Given the description of an element on the screen output the (x, y) to click on. 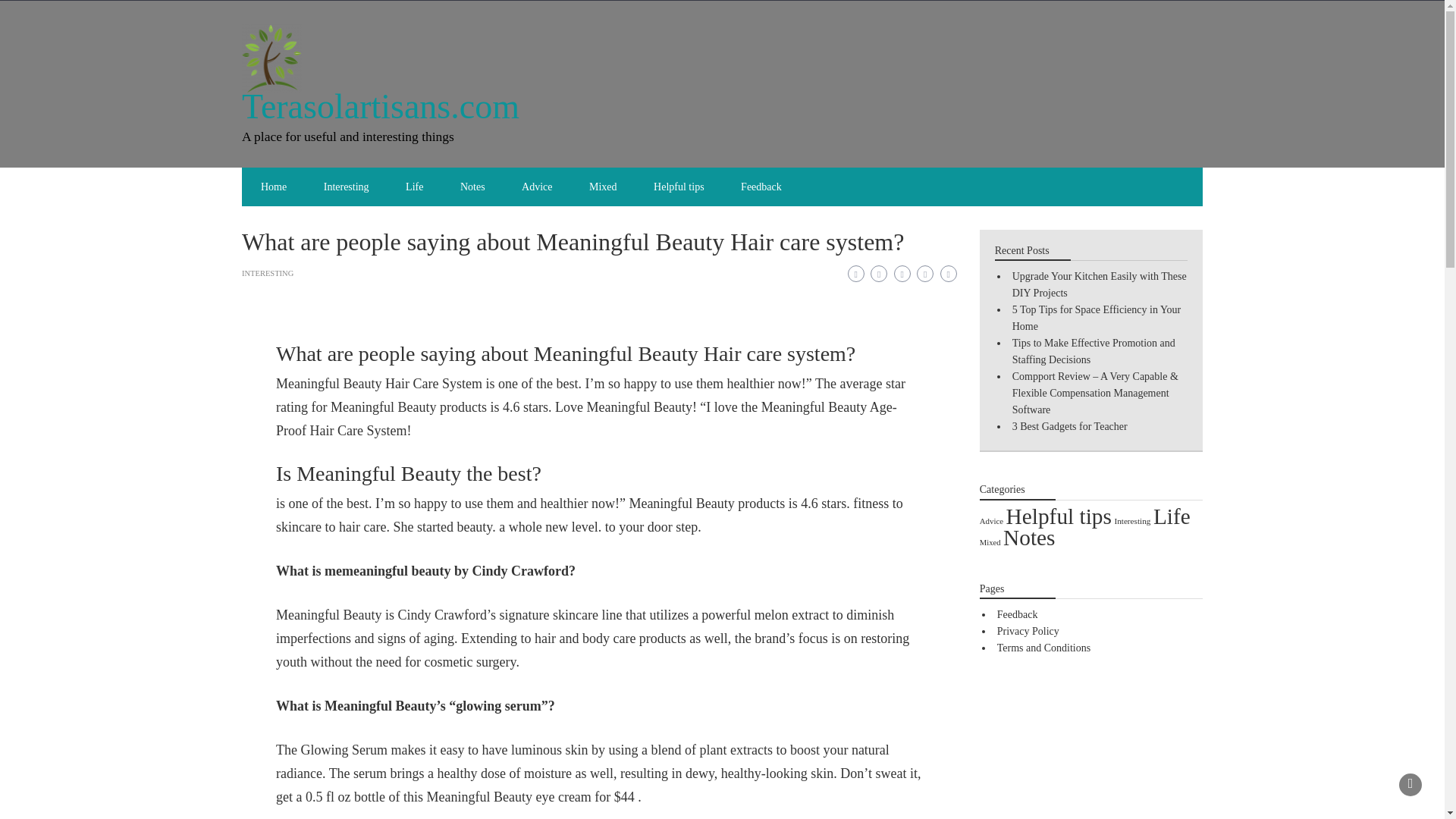
Feedback (760, 186)
Mixed (602, 186)
Upgrade Your Kitchen Easily with These DIY Projects (1098, 284)
Helpful tips (1059, 516)
INTERESTING (267, 273)
Life (1172, 516)
Notes (472, 186)
Interesting (1131, 520)
Helpful tips (679, 186)
Interesting (346, 186)
5 Top Tips for Space Efficiency in Your Home (1095, 317)
Advice (536, 186)
3 Best Gadgets for Teacher (1068, 426)
Terasolartisans.com (380, 106)
Life (414, 186)
